Given the description of an element on the screen output the (x, y) to click on. 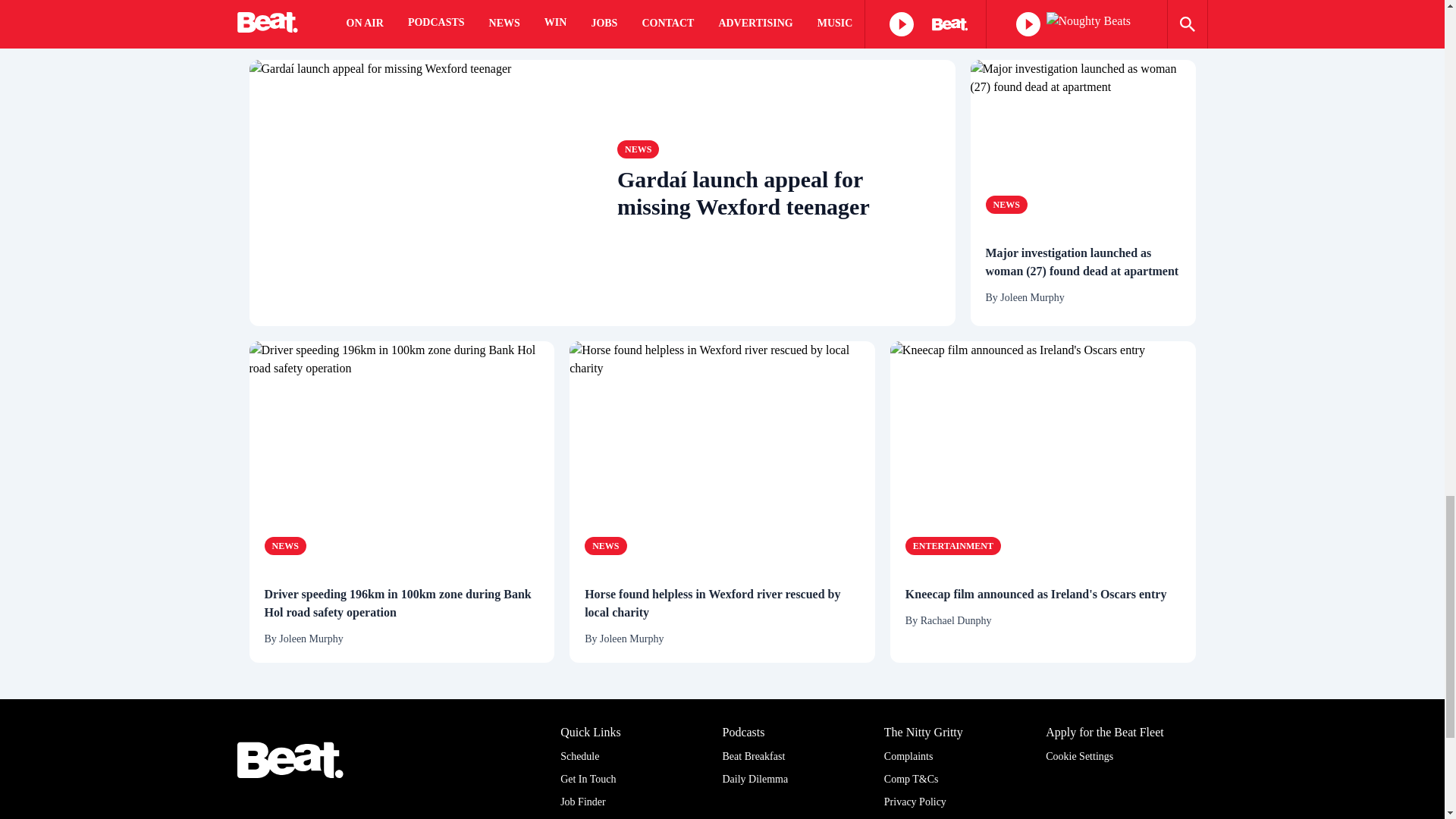
News (1006, 204)
News (1178, 19)
News (284, 546)
News (638, 149)
News (316, 18)
